Given the description of an element on the screen output the (x, y) to click on. 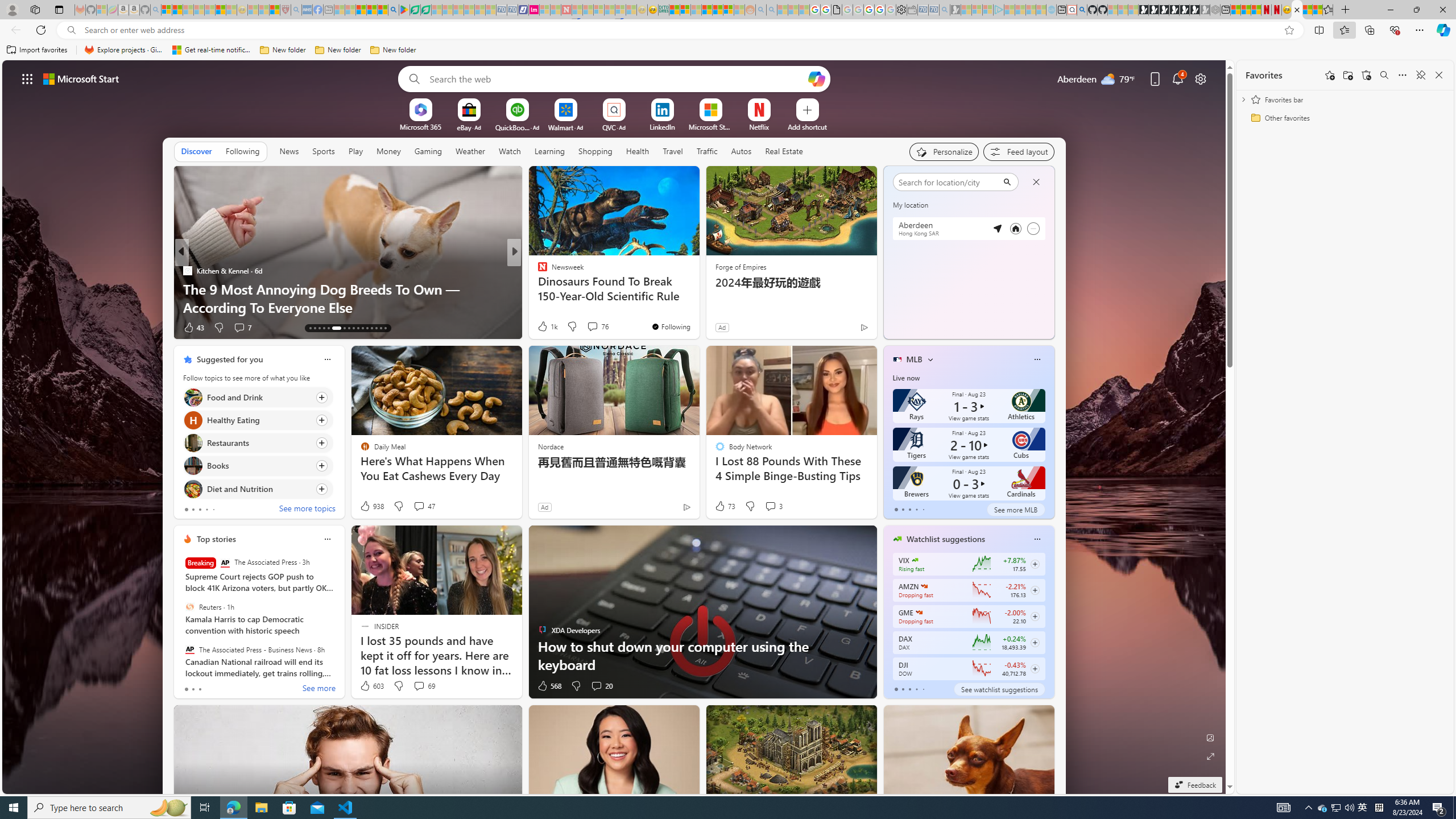
View comments 9 Comment (592, 327)
View comments 257 Comment (592, 327)
Daily (942, 233)
Food and Drink (192, 397)
tab-1 (903, 689)
AutomationID: backgroundImagePicture (613, 426)
github - Search (1081, 9)
